Given the description of an element on the screen output the (x, y) to click on. 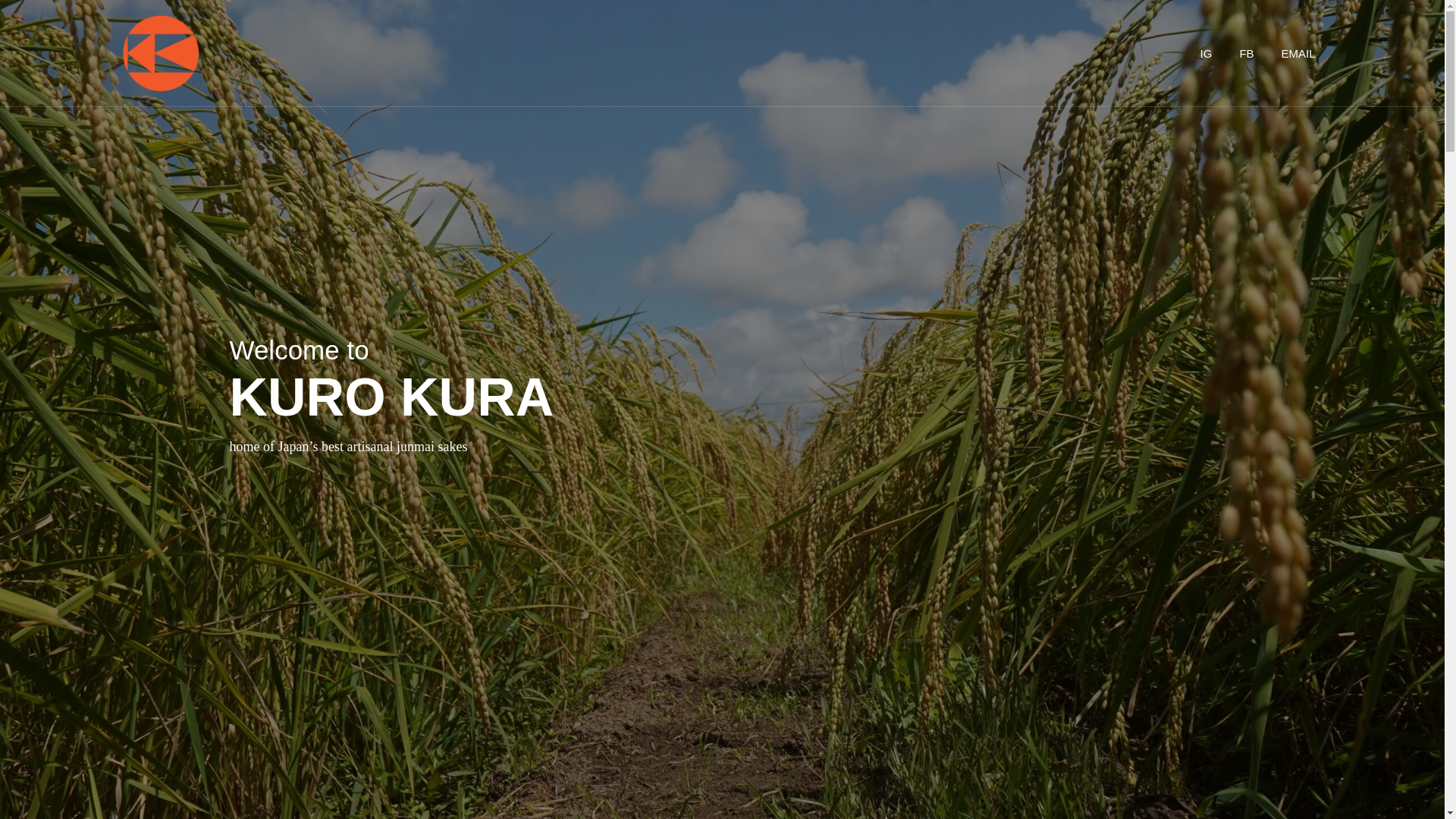
IG (1205, 53)
FB (1245, 53)
EMAIL (1298, 53)
